Given the description of an element on the screen output the (x, y) to click on. 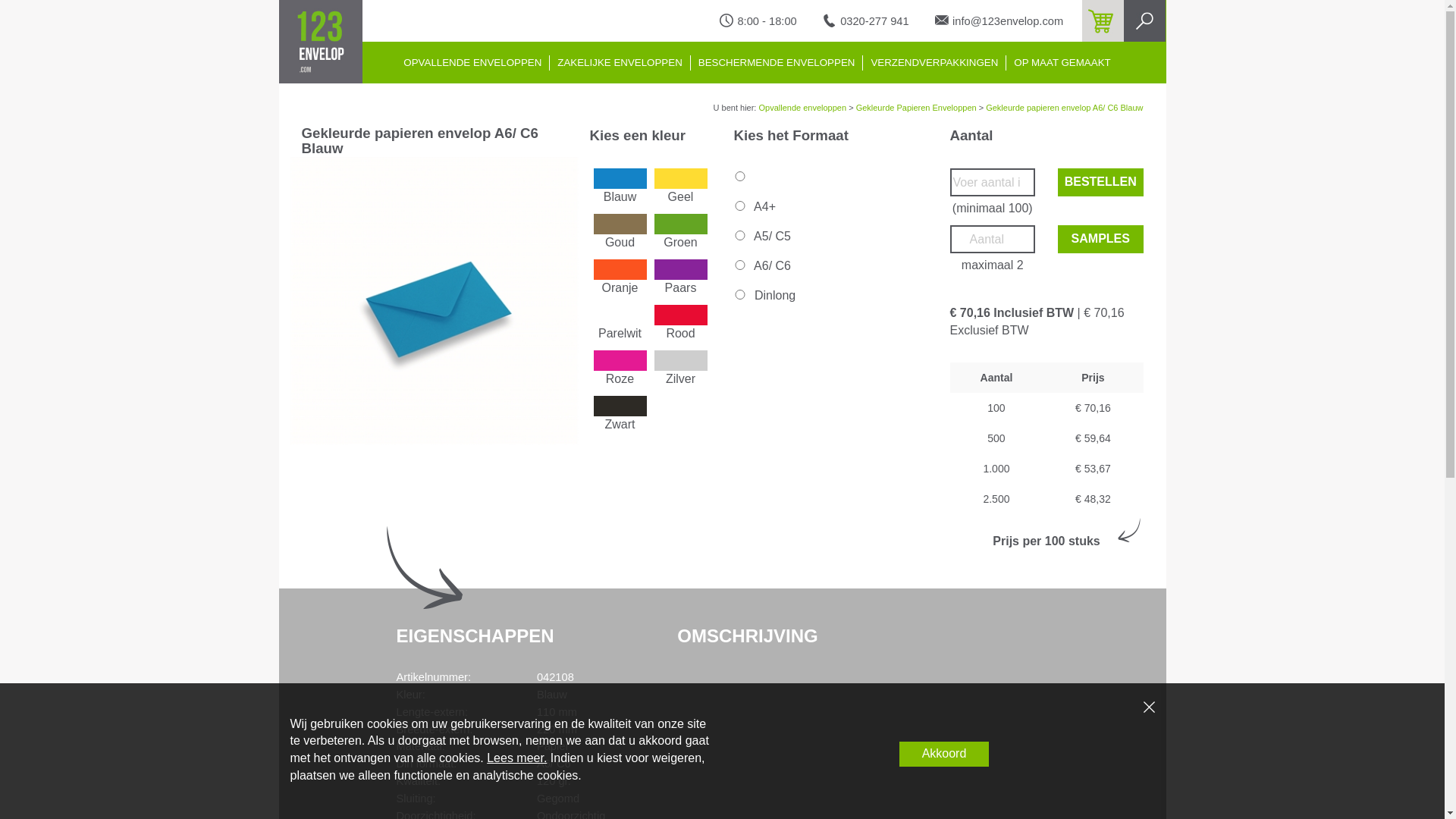
BESTELLEN Element type: text (1100, 182)
Gekleurde Papieren Enveloppen Element type: text (916, 107)
on Element type: text (739, 205)
OP MAAT GEMAAKT Element type: text (1061, 62)
on Element type: text (739, 235)
ZAKELIJKE ENVELOPPEN Element type: text (619, 62)
Akkoord Element type: text (944, 753)
VERZENDVERPAKKINGEN Element type: text (933, 62)
on Element type: text (739, 294)
Gekleurde papieren envelop A6/ C6 Blauw Element type: text (1063, 107)
OPVALLENDE ENVELOPPEN Element type: text (472, 62)
BESCHERMENDE ENVELOPPEN Element type: text (776, 62)
on Element type: text (739, 176)
Lees meer. Element type: text (516, 757)
SAMPLES Element type: text (1100, 239)
Opvallende enveloppen Element type: text (802, 107)
on Element type: text (739, 264)
